Given the description of an element on the screen output the (x, y) to click on. 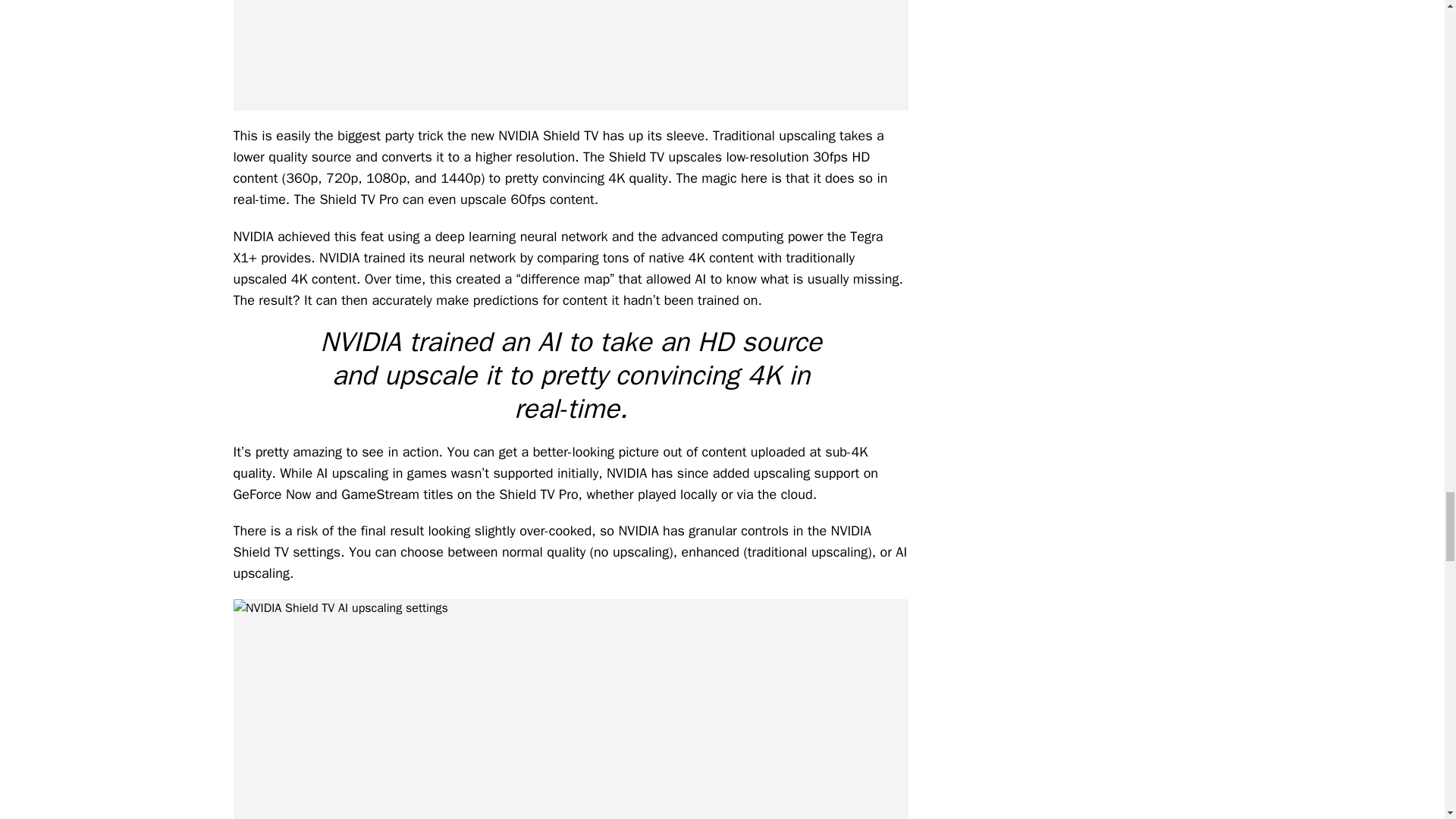
NVIDIA Shield TV AI Upscaling 4K vs HD (570, 55)
